Given the description of an element on the screen output the (x, y) to click on. 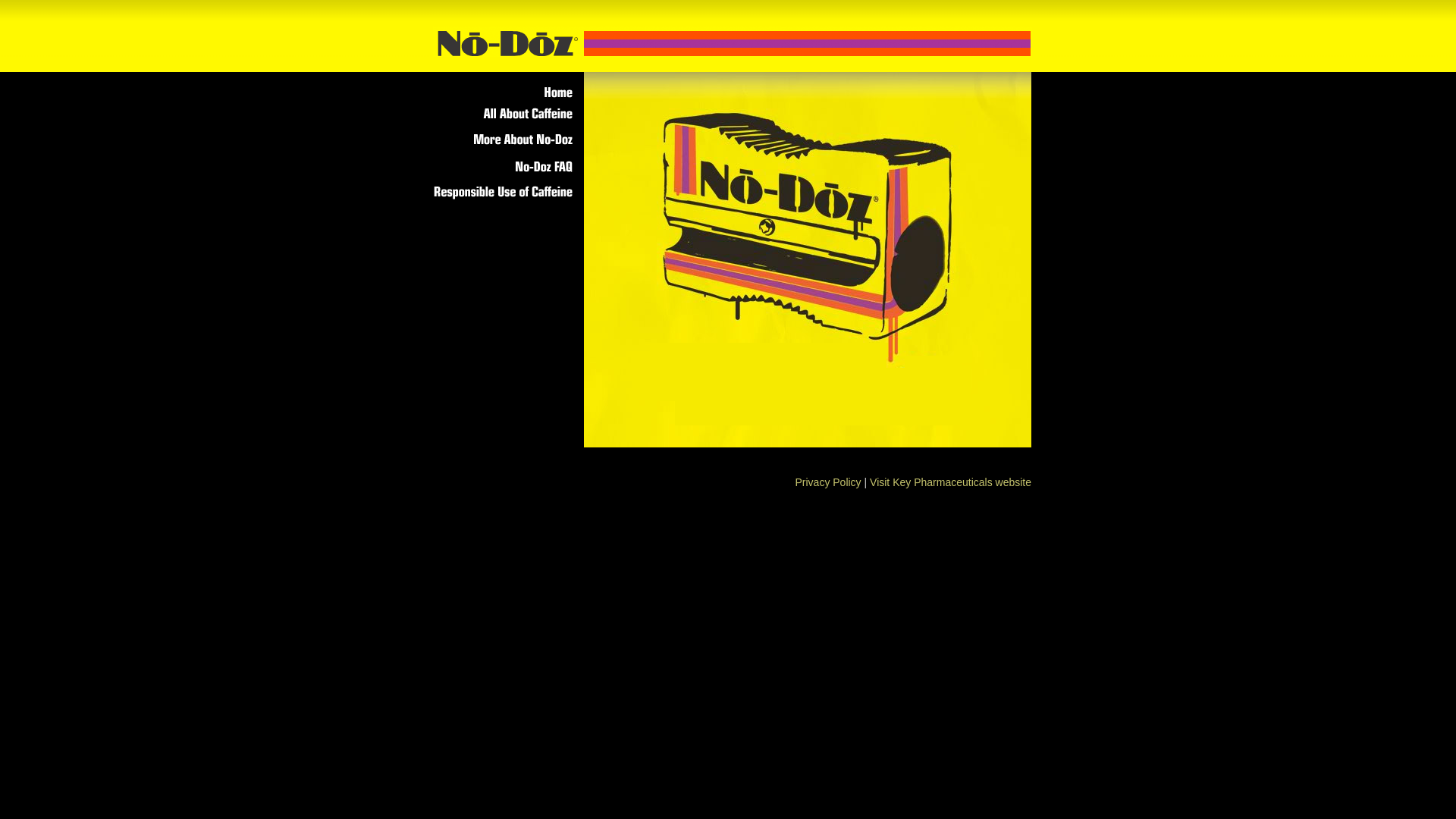
Home Element type: text (503, 88)
All About Caffeine Element type: text (503, 112)
Privacy Policy Element type: text (827, 482)
More About No-Doz Element type: text (503, 139)
Responsible Use of Caffeine Element type: text (503, 194)
No-Doz FAQ Element type: text (503, 165)
Visit Key Pharmaceuticals website Element type: text (950, 482)
